Given the description of an element on the screen output the (x, y) to click on. 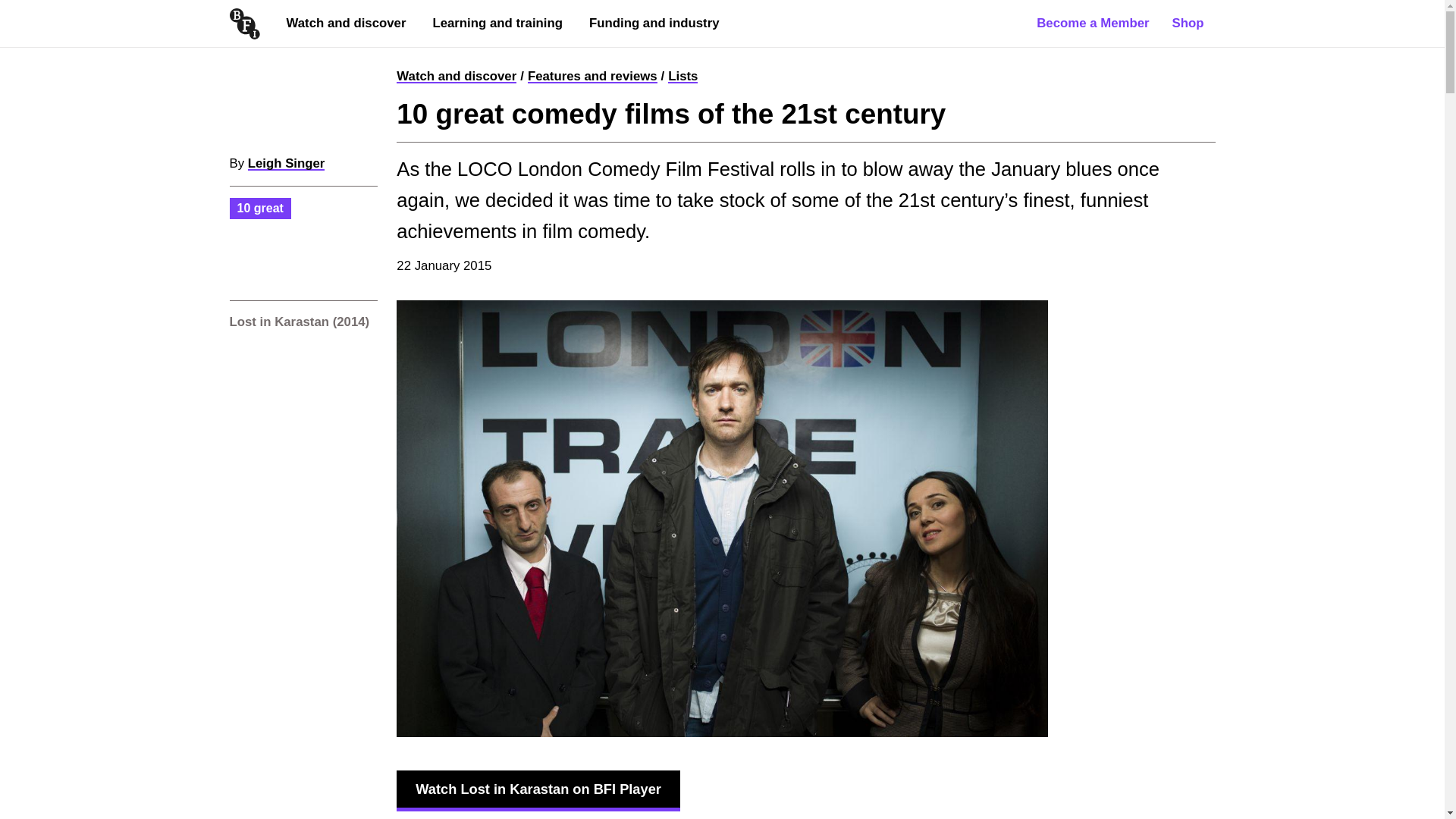
Become a Member (1092, 22)
Watch and discover (456, 75)
10 great (258, 207)
Watch and discover (345, 23)
Open submenu (295, 54)
Open submenu (441, 54)
Lists (682, 75)
Leigh Singer (285, 163)
Learning and training (496, 23)
Open submenu (598, 54)
